Given the description of an element on the screen output the (x, y) to click on. 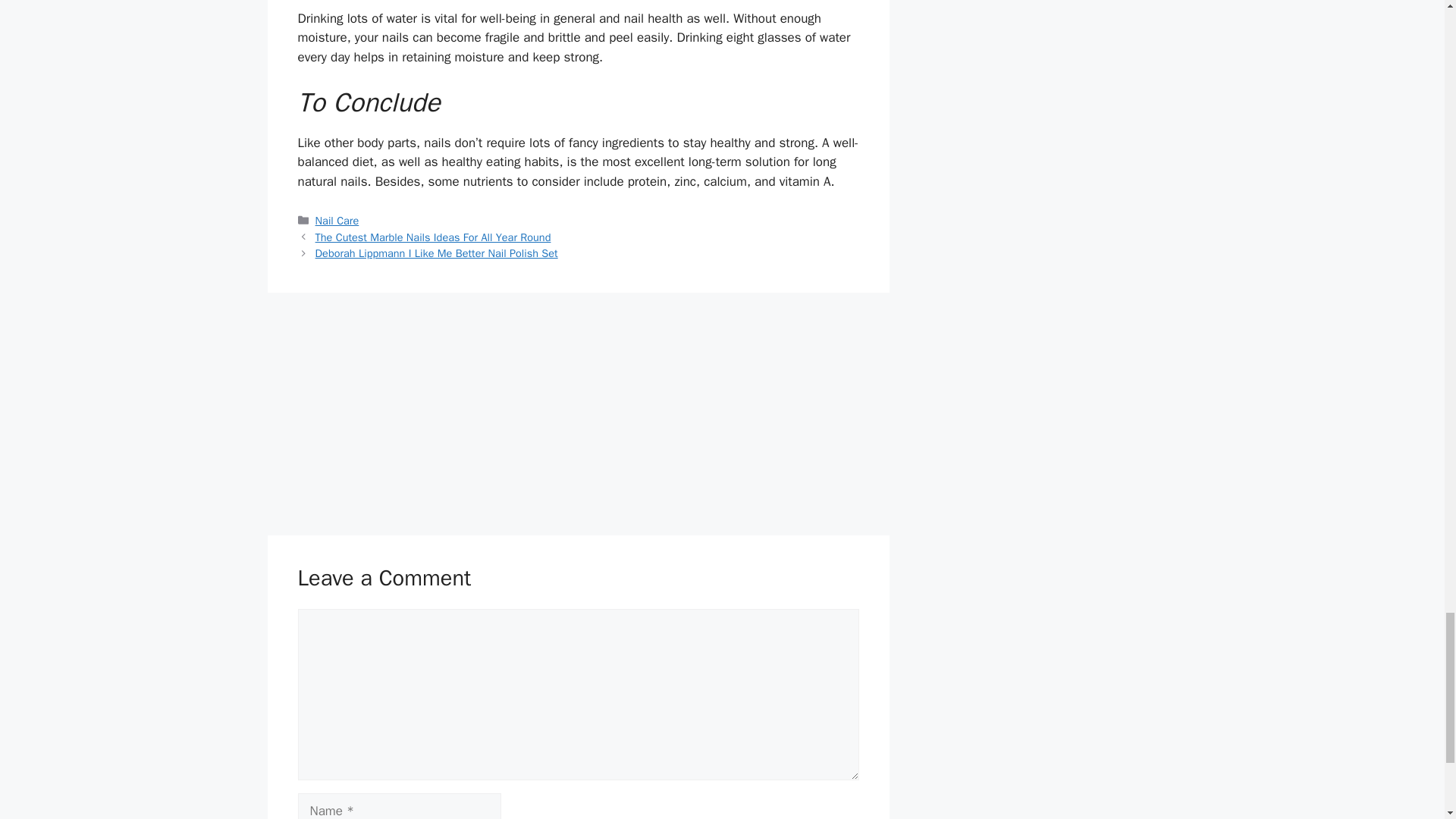
Deborah Lippmann I Like Me Better Nail Polish Set (436, 253)
The Cutest Marble Nails Ideas For All Year Round (433, 237)
Nail Care (337, 220)
